Given the description of an element on the screen output the (x, y) to click on. 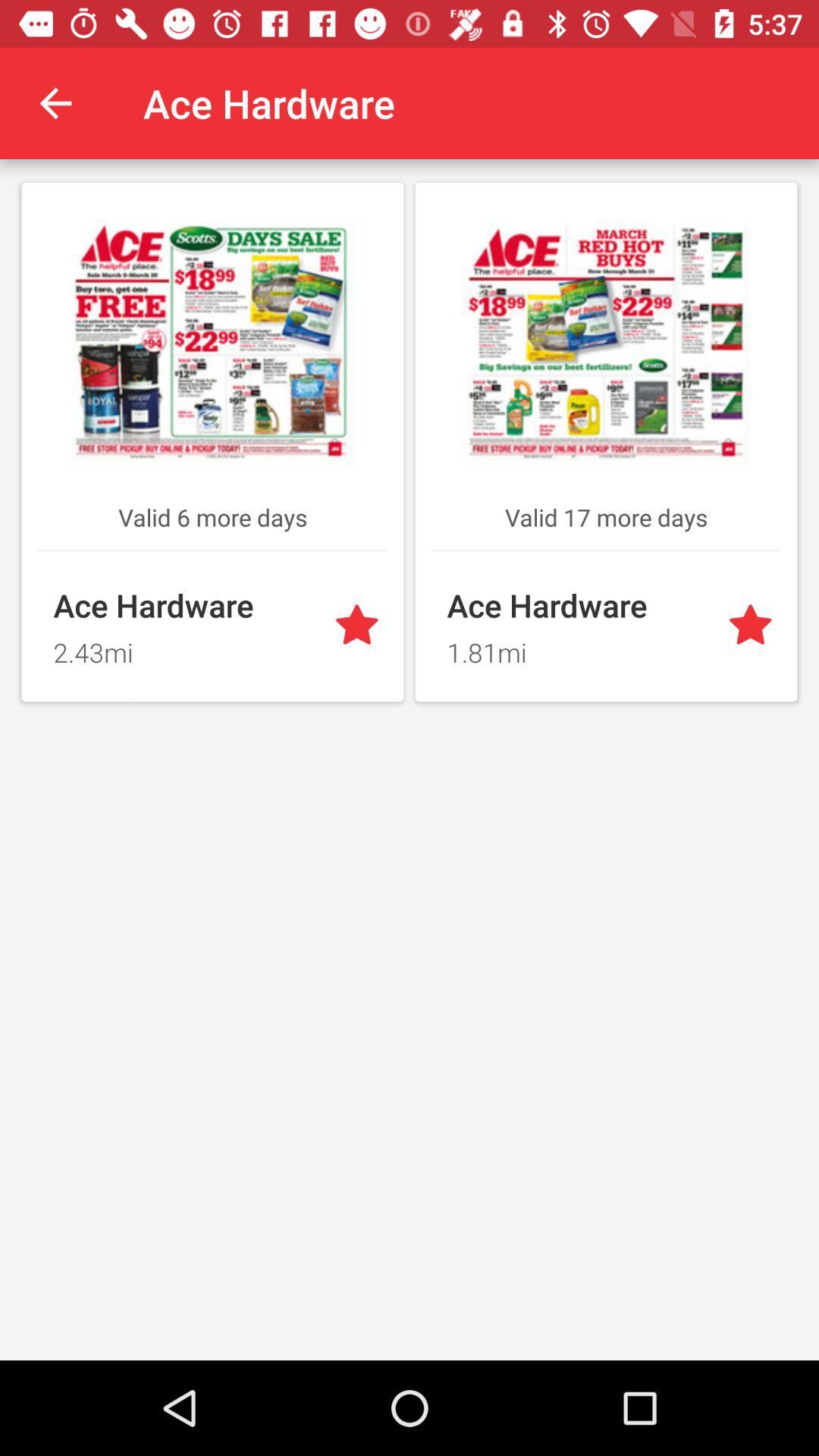
set item as favorite (753, 626)
